Given the description of an element on the screen output the (x, y) to click on. 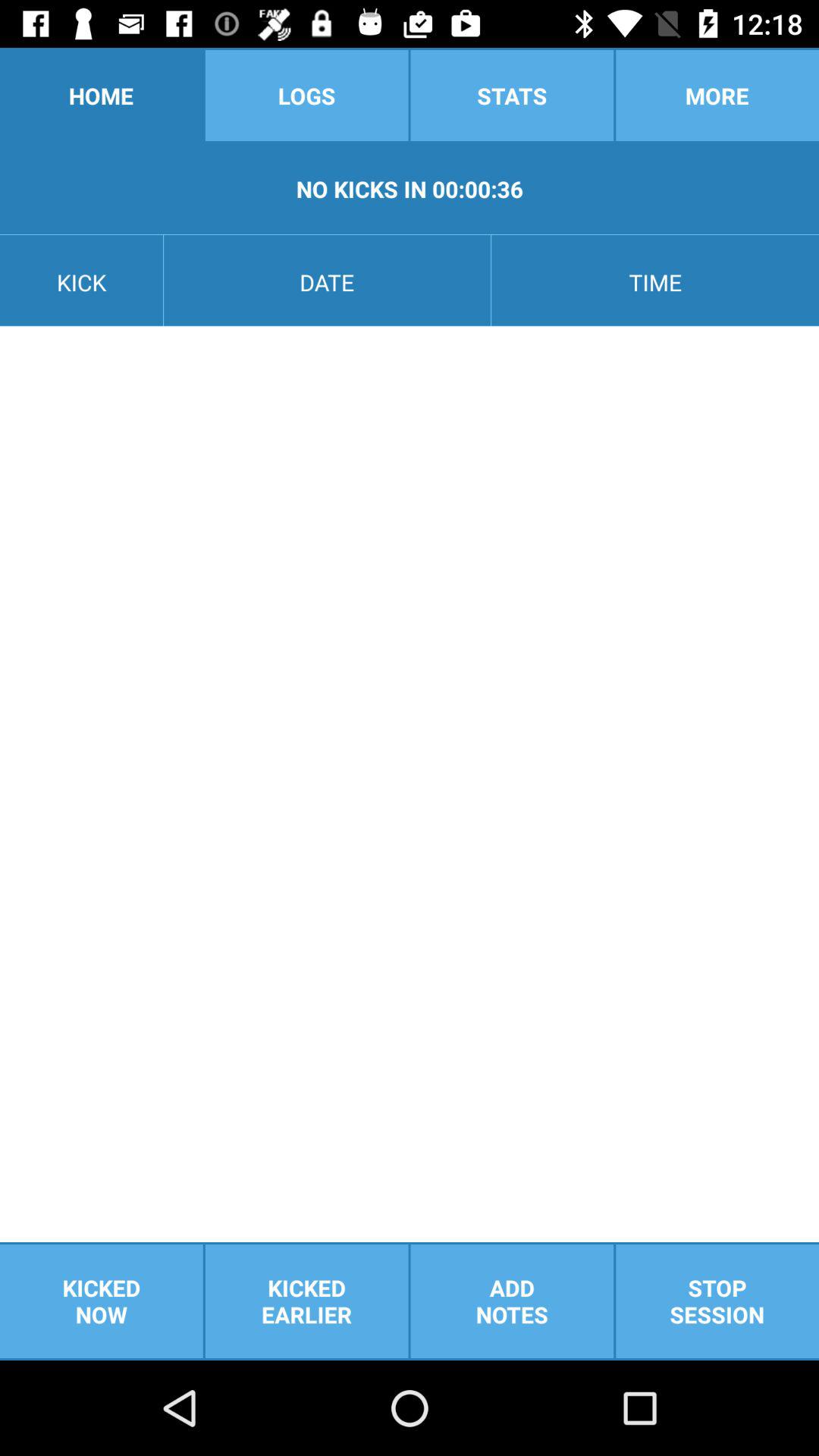
swipe until home item (101, 95)
